Given the description of an element on the screen output the (x, y) to click on. 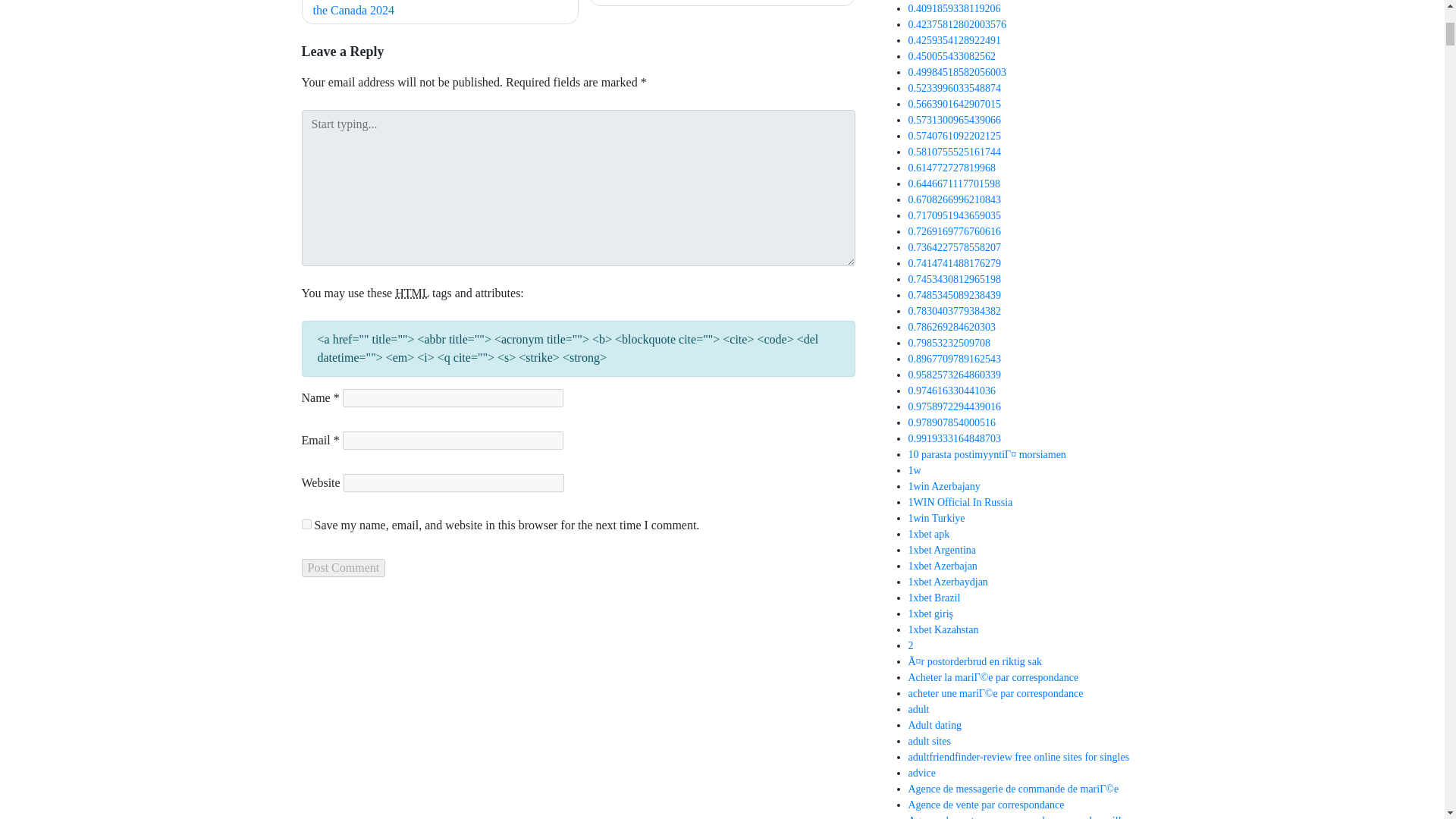
Best Web based casinos source weblink Inside the Canada 2024 (439, 12)
HyperText Markup Language (411, 292)
Post Comment (343, 567)
Carry out I adore my boyfriend or is it ROCD? (722, 2)
Post Comment (343, 567)
yes (306, 524)
